Given the description of an element on the screen output the (x, y) to click on. 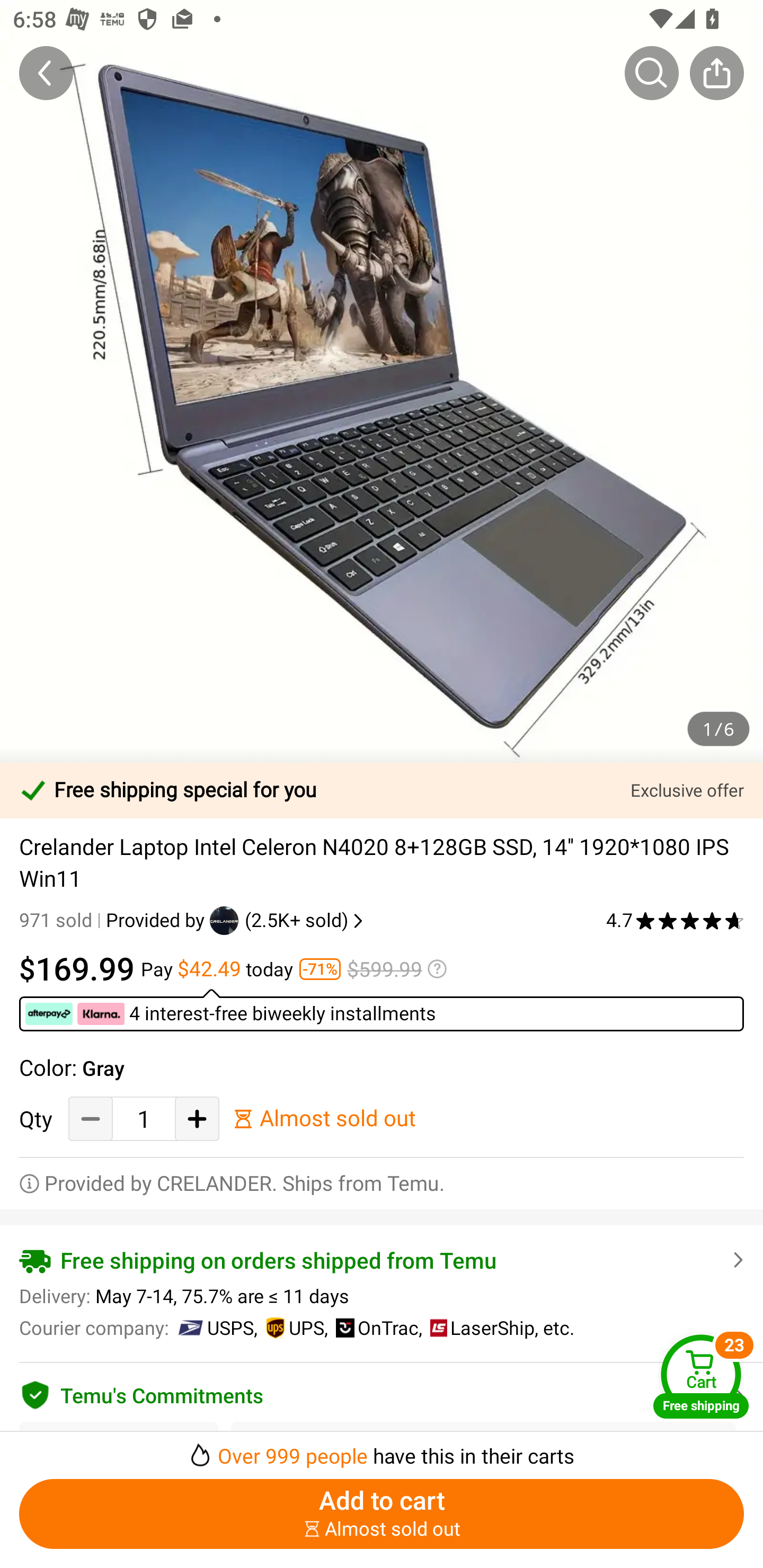
Back (46, 72)
Share (716, 72)
Free shipping special for you Exclusive offer (381, 790)
971 sold Provided by  (114, 920)
4.7 (674, 920)
￼ ￼ 4 interest-free biweekly installments (381, 1009)
Decrease Quantity Button (90, 1118)
Add Quantity button (196, 1118)
1 (143, 1119)
Cart Free shipping Cart (701, 1375)
Temu's Commitments (381, 1392)
￼￼Over 999 people have this in their carts (381, 1450)
Add to cart ￼￼Almost sold out (381, 1513)
